Given the description of an element on the screen output the (x, y) to click on. 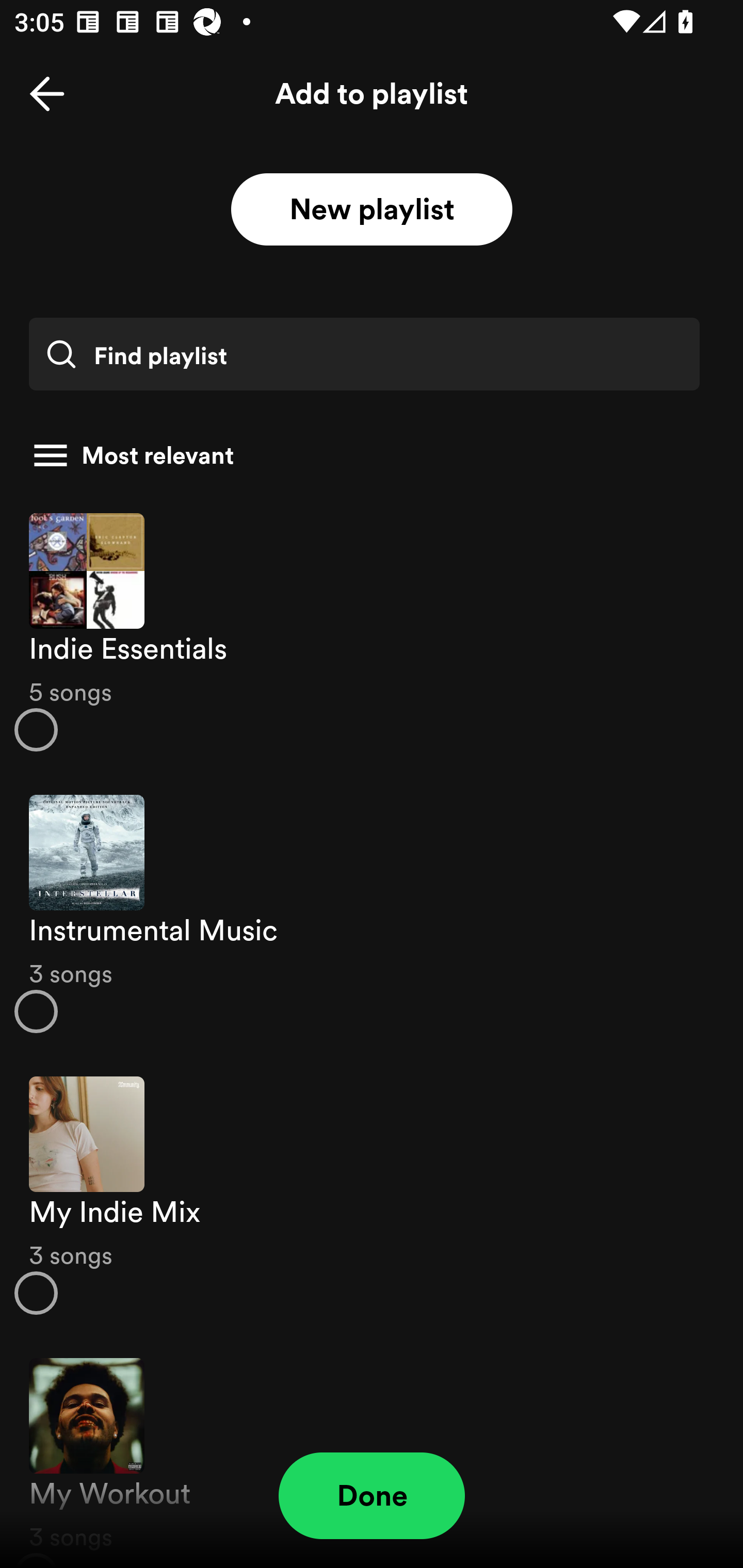
Back (46, 93)
New playlist (371, 210)
Find playlist (363, 354)
Most relevant (363, 455)
Indie Essentials 5 songs (371, 631)
Instrumental Music 3 songs (371, 914)
My Indie Mix 3 songs (371, 1195)
My Workout 3 songs (371, 1451)
Done (371, 1495)
